Given the description of an element on the screen output the (x, y) to click on. 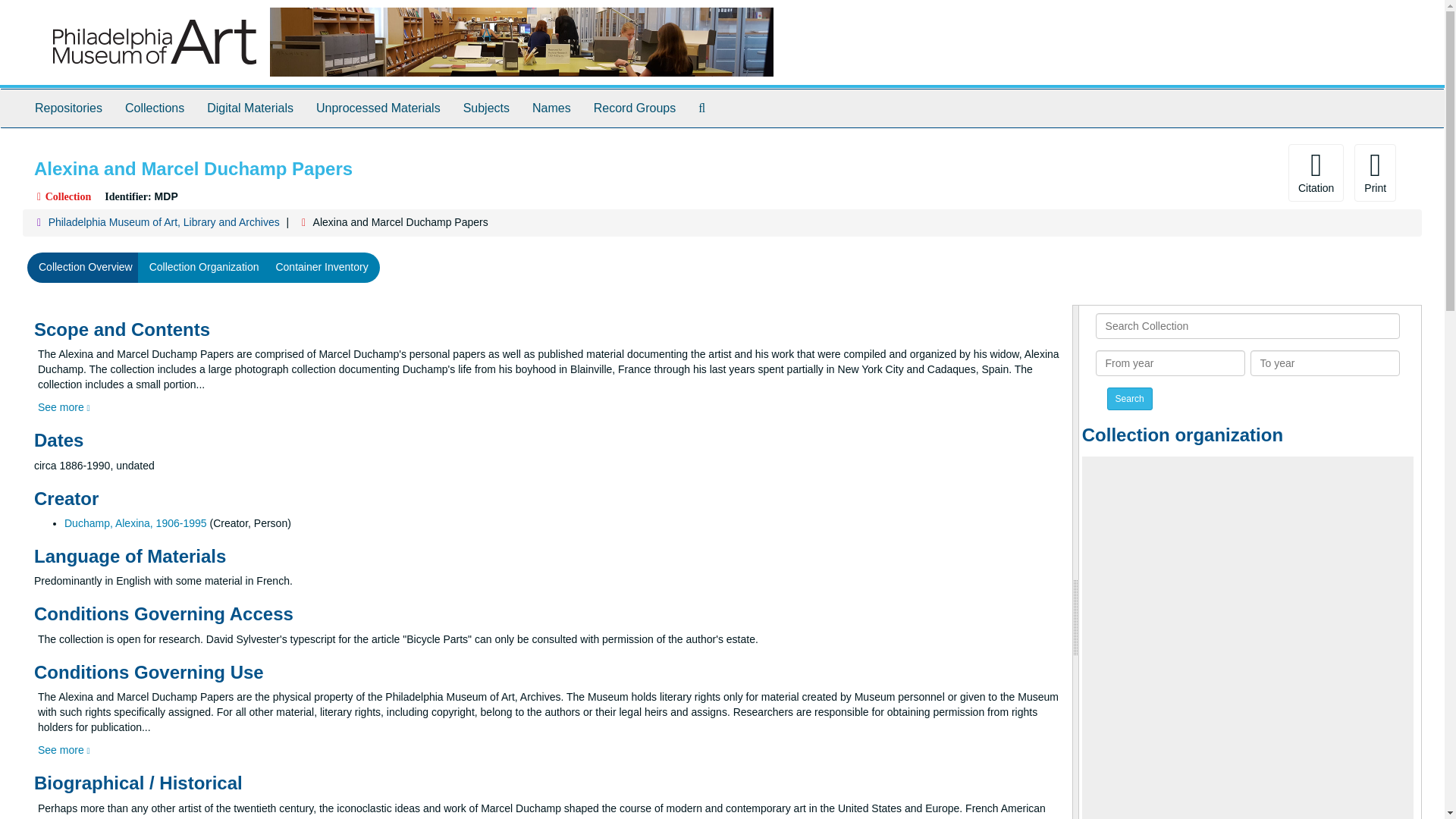
See more (63, 407)
Container Inventory (320, 267)
Philadelphia Museum of Art, Library and Archives (163, 222)
Record Groups (634, 108)
Collection Overview (85, 267)
See more (63, 749)
Collections (154, 108)
Collection Organization (204, 267)
Unprocessed Materials (377, 108)
Digital Materials (249, 108)
